Given the description of an element on the screen output the (x, y) to click on. 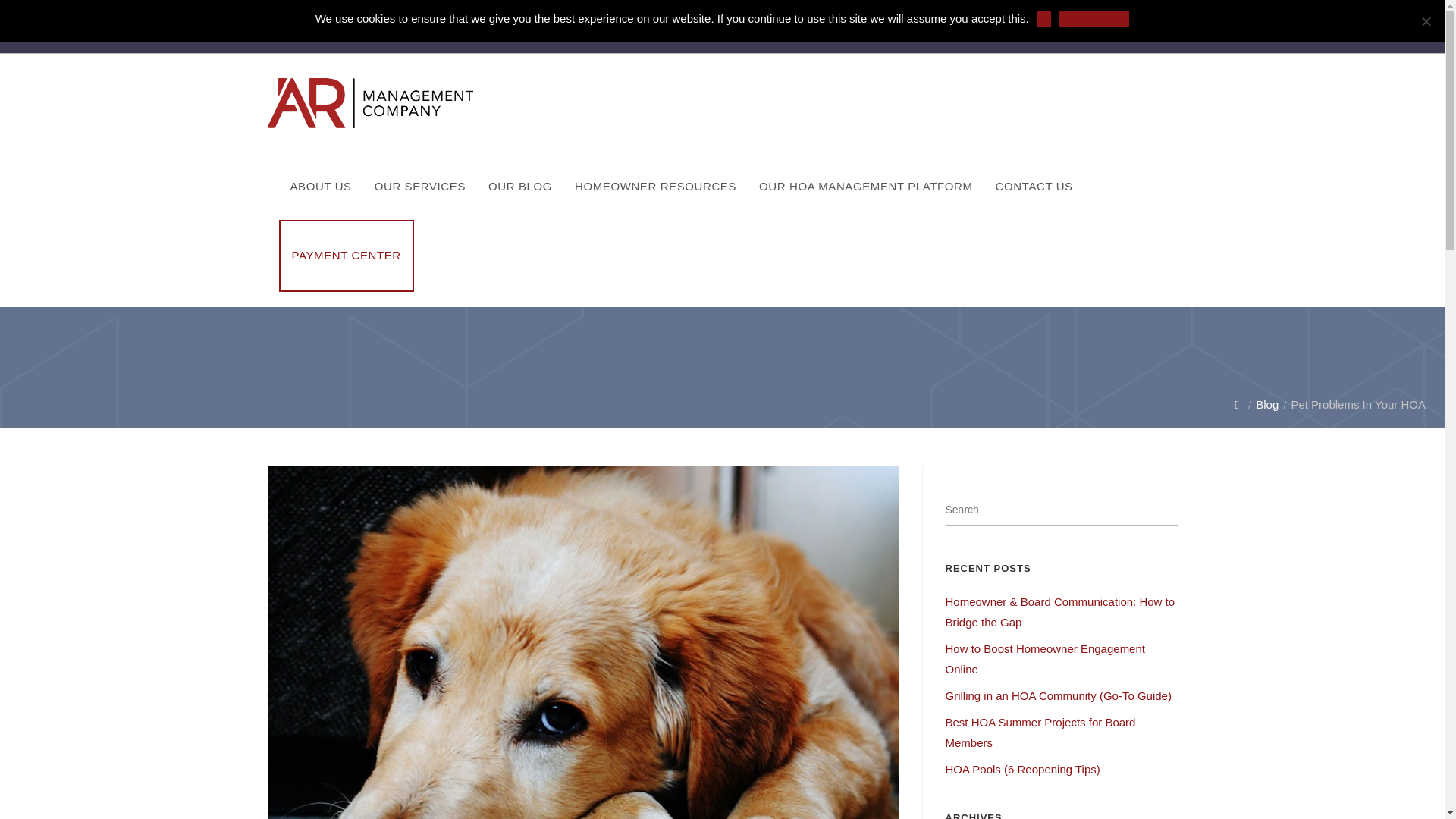
HOMEOWNER RESOURCES (655, 186)
CONTACT US (1034, 186)
No (1425, 20)
How to Boost Homeowner Engagement Online (1044, 658)
OUR BLOG (520, 186)
Blog (1266, 404)
OUR HOA MANAGEMENT PLATFORM (866, 186)
ABOUT US (320, 186)
PAYMENT CENTER (346, 255)
OUR SERVICES (419, 186)
